Given the description of an element on the screen output the (x, y) to click on. 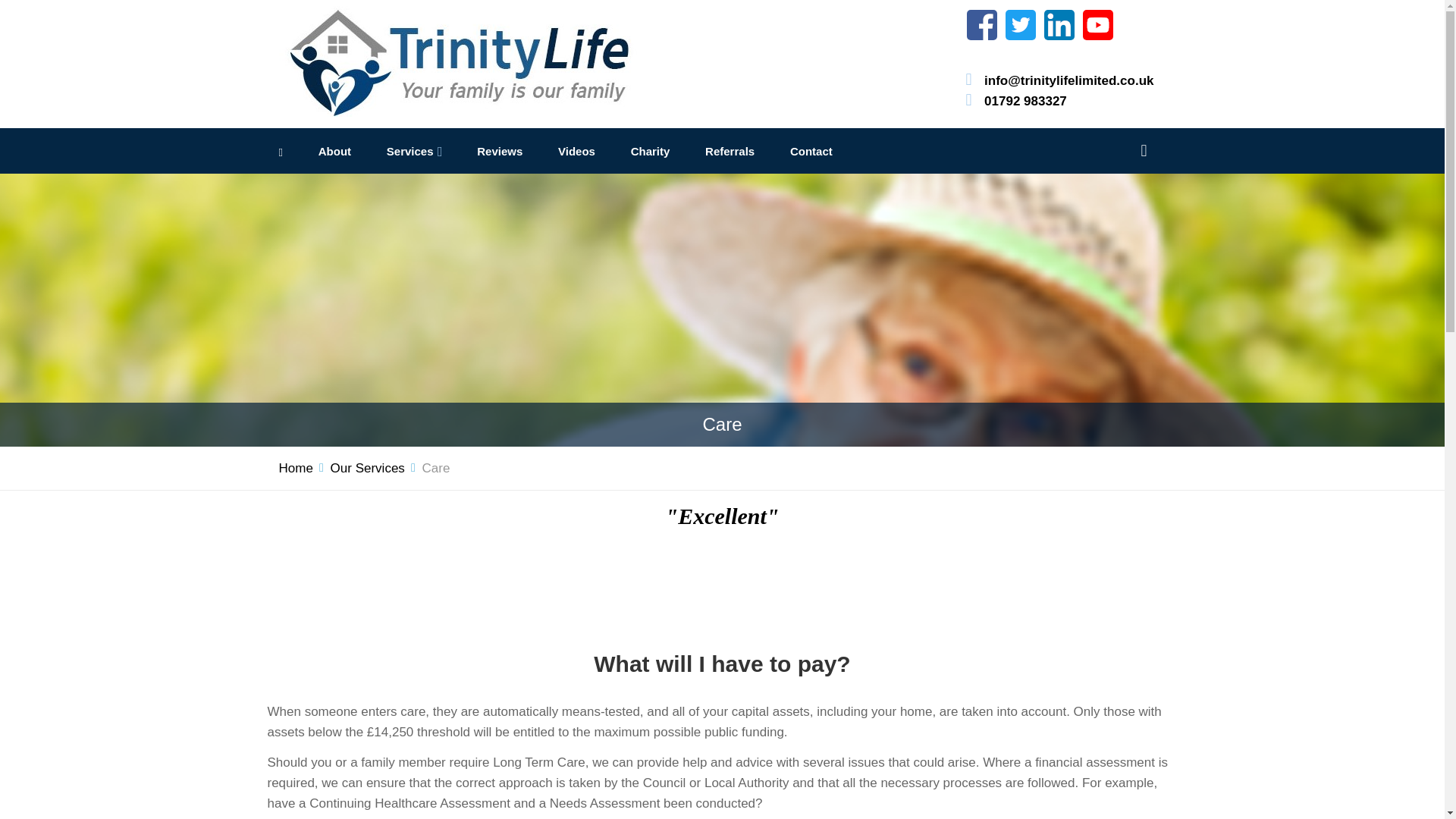
Videos (576, 151)
LinkedIn (1058, 24)
About (334, 151)
Contact (811, 151)
Home (296, 467)
Reviews (499, 151)
Twitter (1020, 24)
Our Services (367, 467)
Charity (649, 151)
01792 983327 (1025, 100)
Referrals (729, 151)
Customer reviews powered by Trustpilot (722, 583)
YouTube (1098, 24)
Services (410, 151)
